Given the description of an element on the screen output the (x, y) to click on. 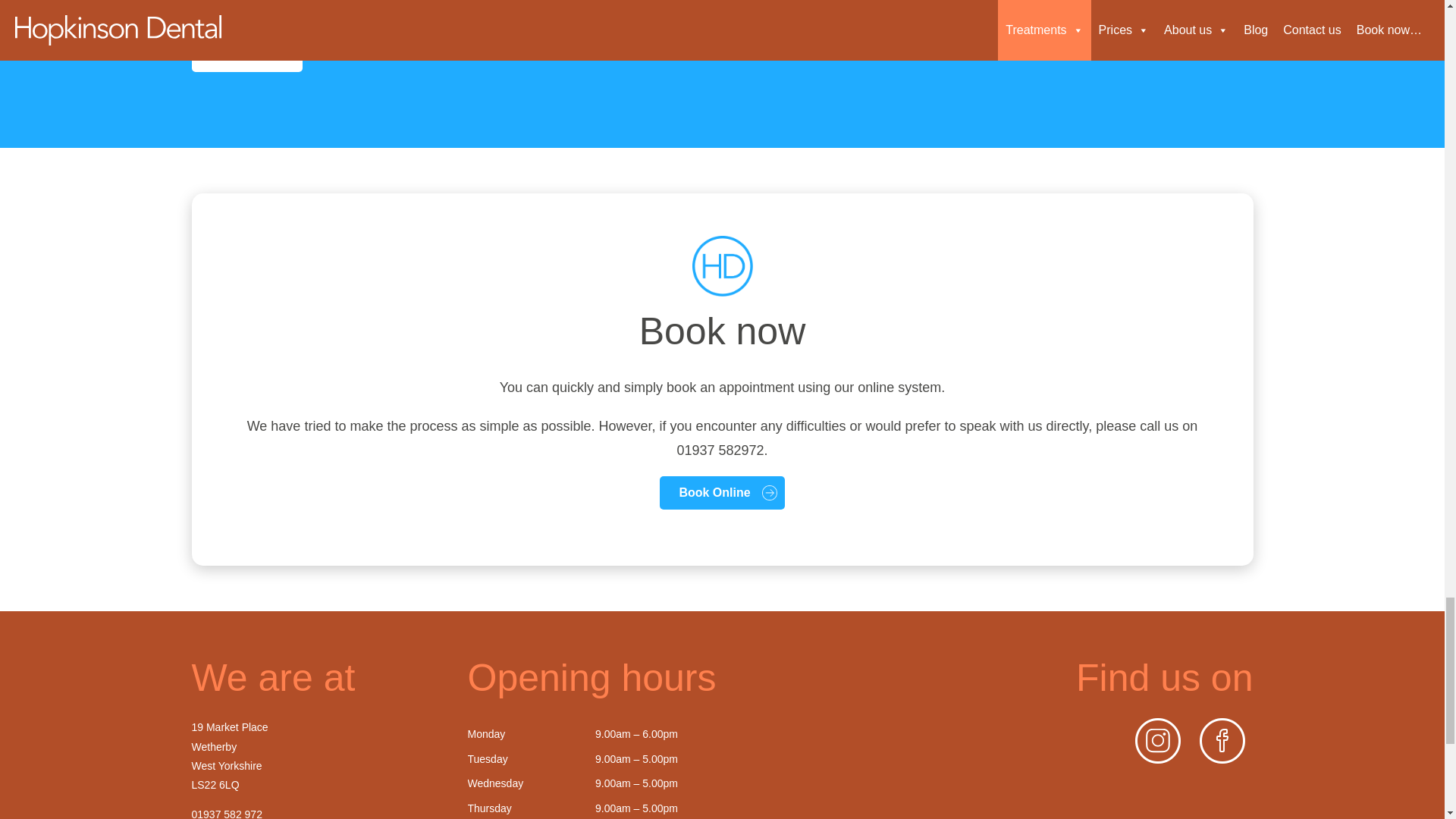
Book now (245, 55)
Book Online (721, 492)
